Given the description of an element on the screen output the (x, y) to click on. 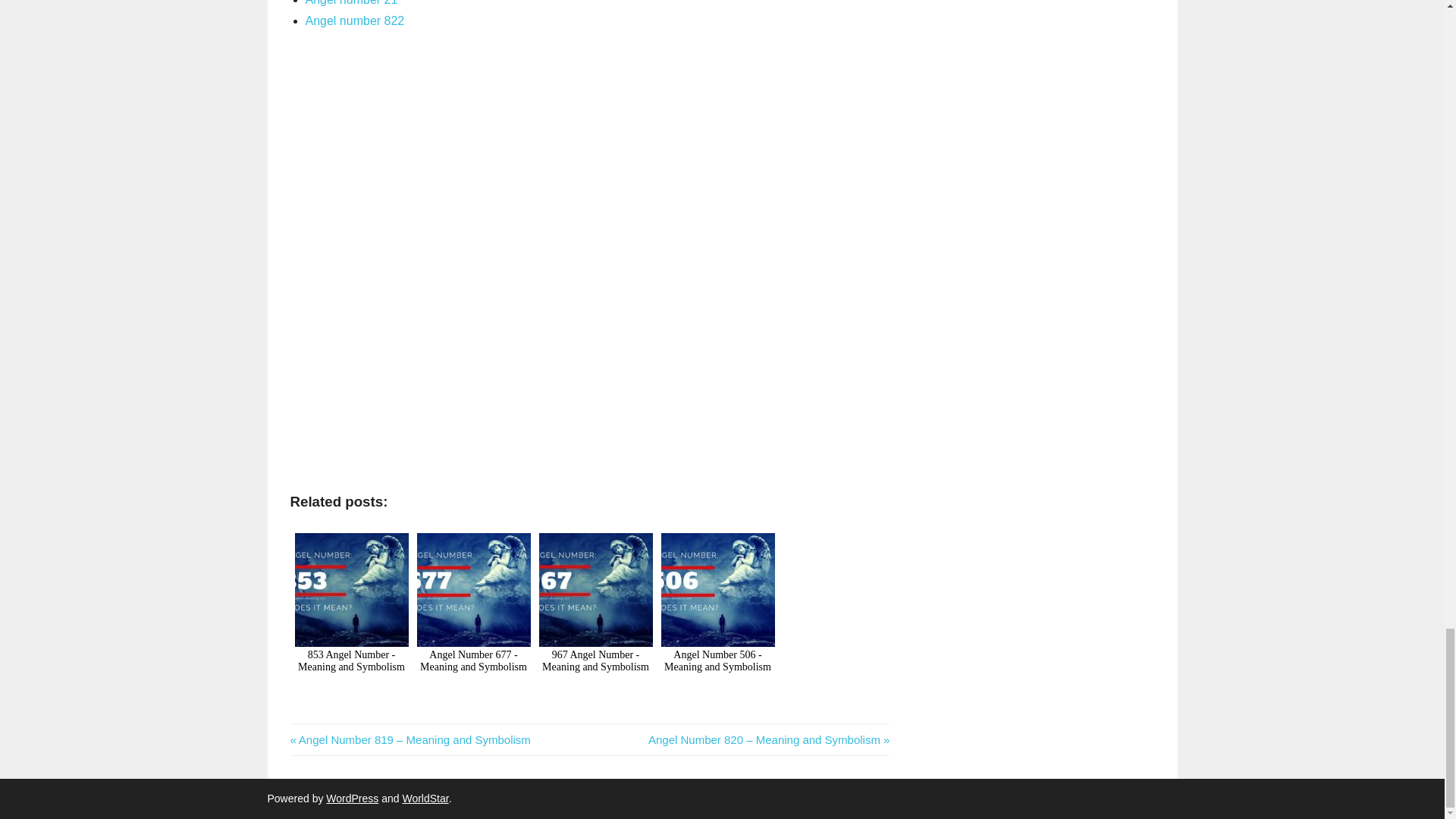
Angel number 822 (354, 20)
Angel Number 677 - Meaning and Symbolism (473, 618)
WorldStar (424, 798)
Angel number 21 (350, 2)
967 Angel Number - Meaning and Symbolism (595, 618)
WordPress (352, 798)
WordPress (352, 798)
853 Angel Number - Meaning and Symbolism (350, 618)
WorldStar WordPress Theme (424, 798)
Angel Number 506 - Meaning and Symbolism (717, 618)
